Given the description of an element on the screen output the (x, y) to click on. 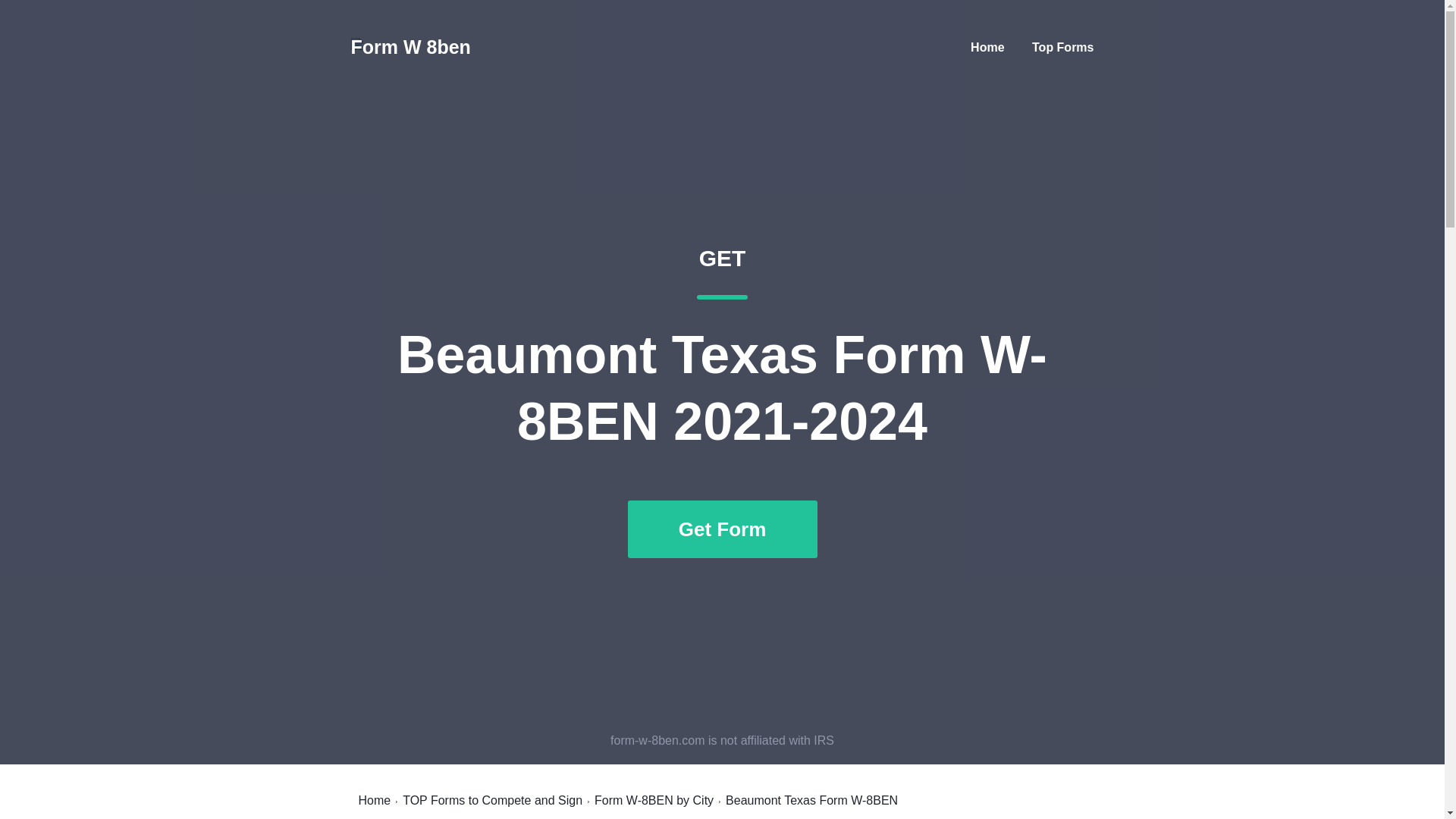
Home (987, 47)
TOP Forms to Compete and Sign (492, 800)
Form W-8BEN by City (653, 800)
Top Forms (1062, 47)
Home (374, 800)
